Given the description of an element on the screen output the (x, y) to click on. 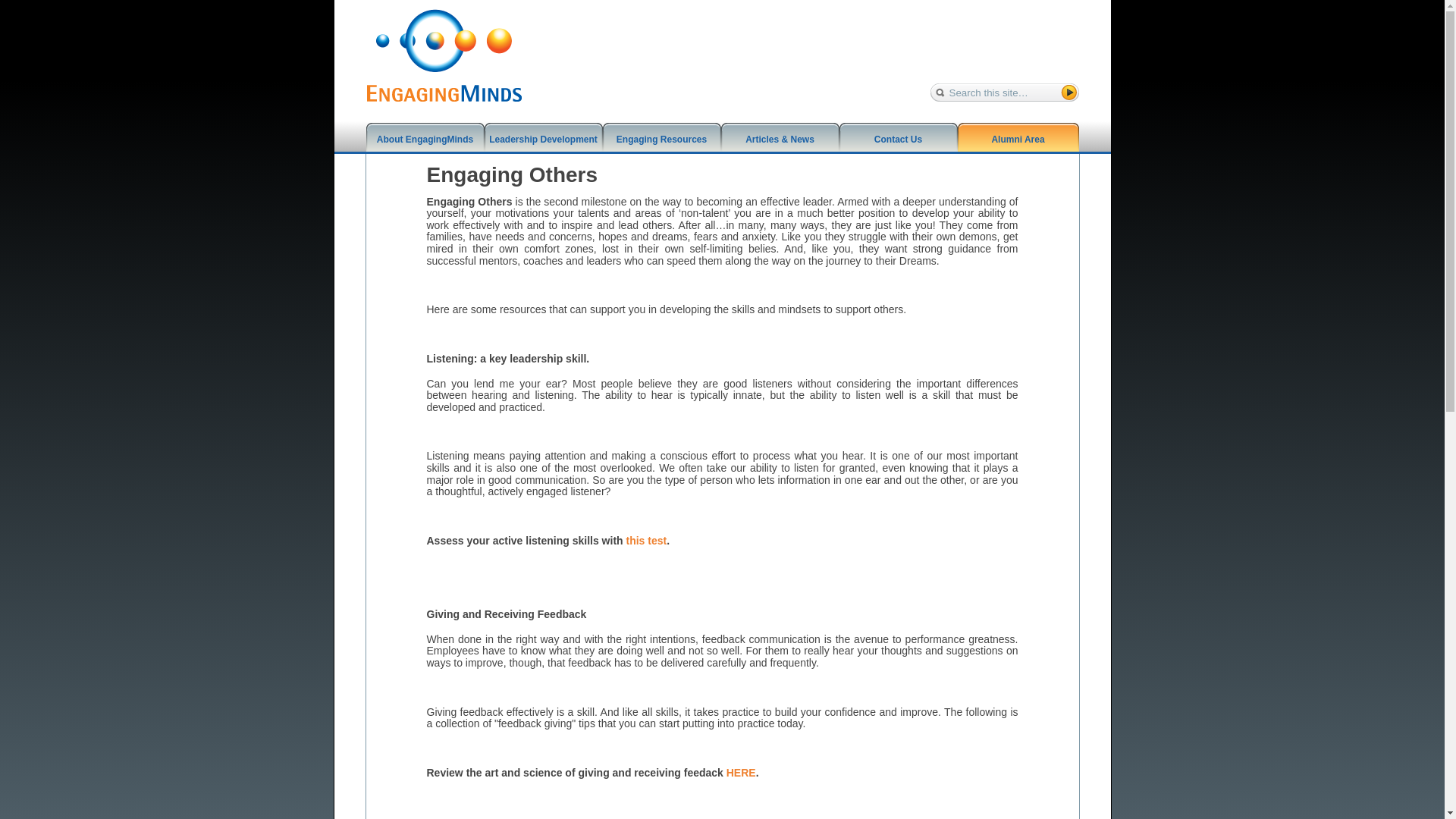
Alumni Area (1017, 143)
Leadership Development (542, 143)
About EngagingMinds (424, 143)
Contact Us (897, 143)
Engaging Resources (661, 143)
HERE (740, 772)
this test (646, 540)
Search (17, 7)
